Given the description of an element on the screen output the (x, y) to click on. 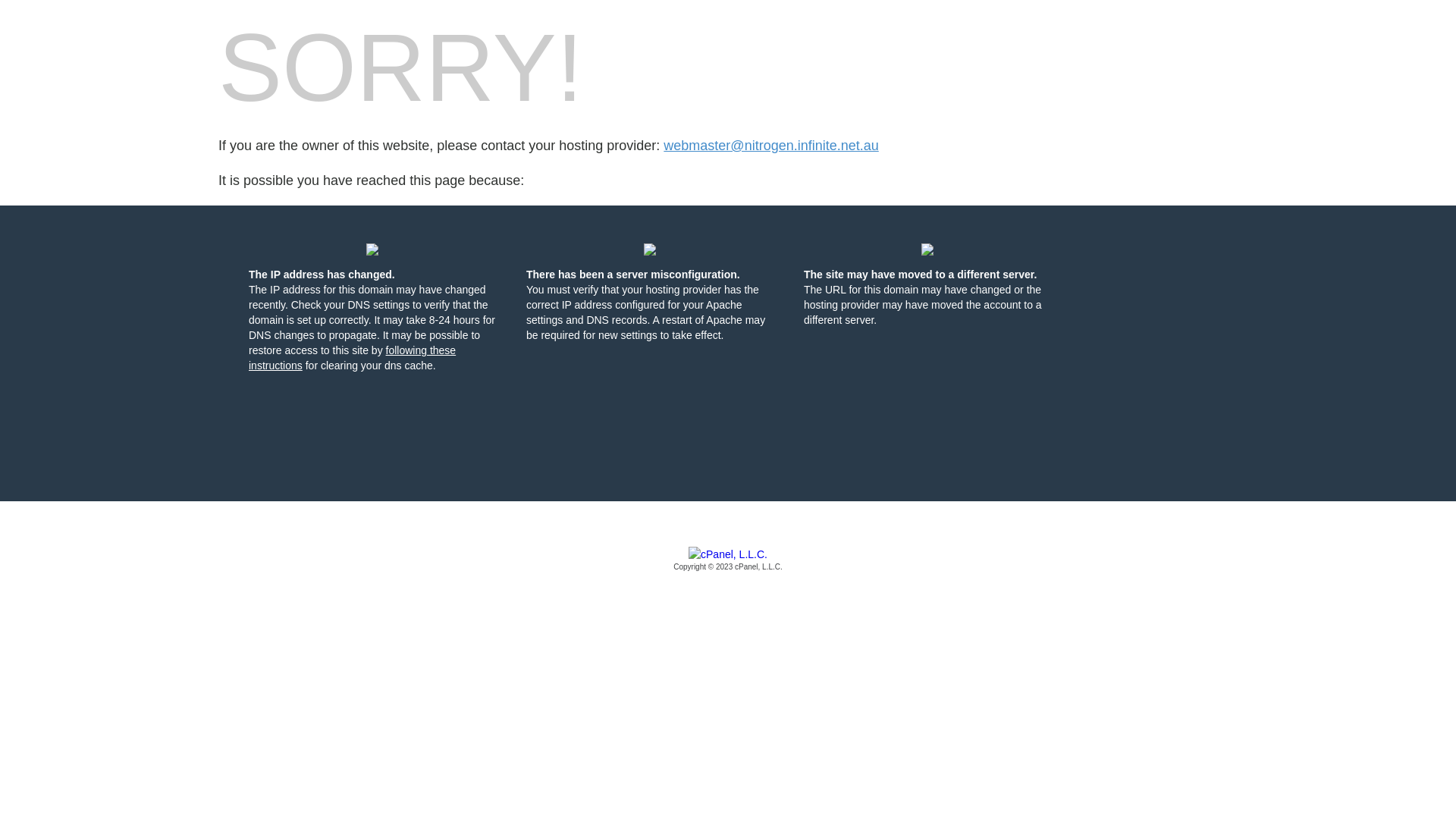
following these instructions Element type: text (351, 357)
webmaster@nitrogen.infinite.net.au Element type: text (770, 145)
